Given the description of an element on the screen output the (x, y) to click on. 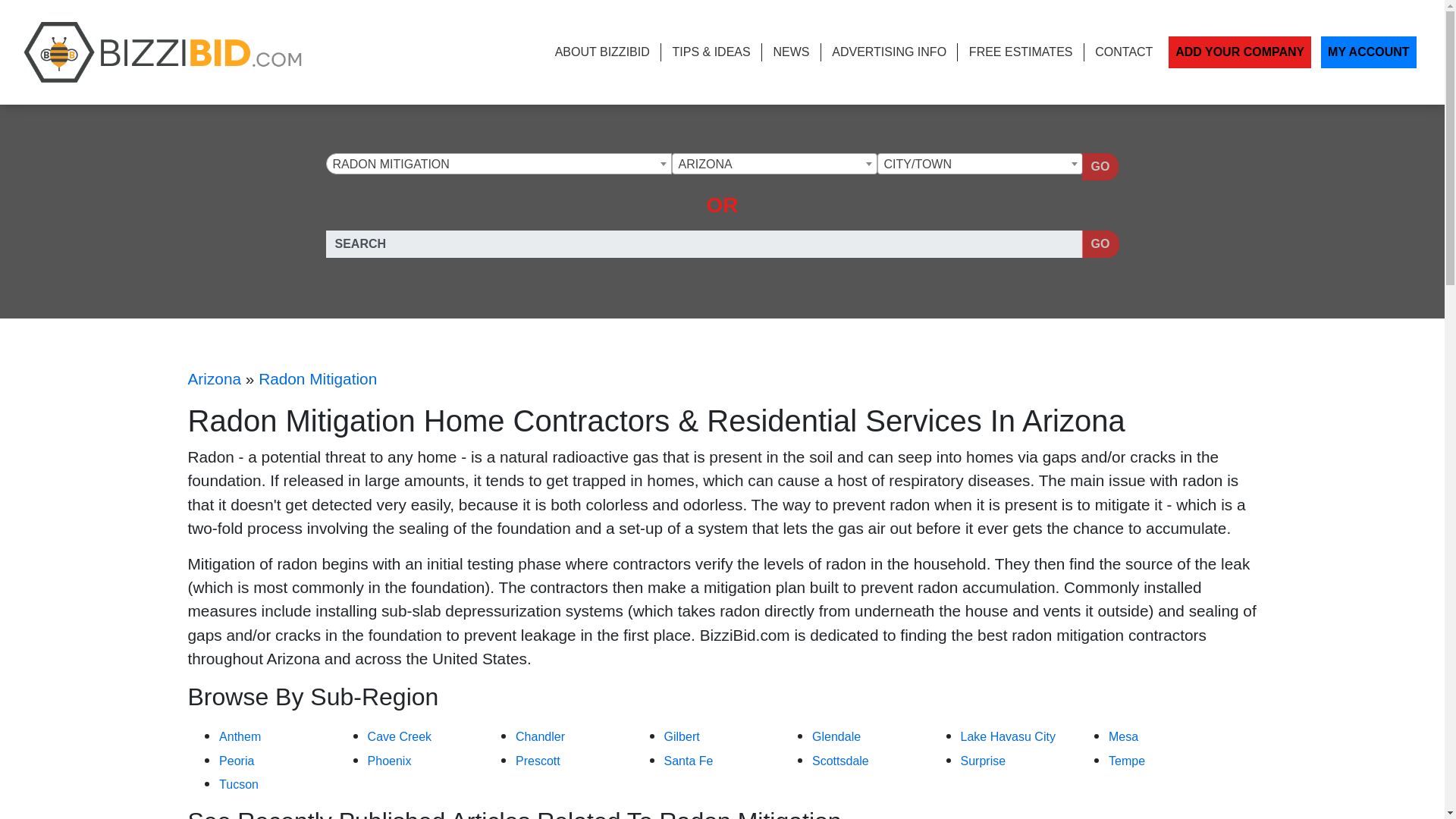
Anthem (239, 736)
Lake Havasu City (1007, 736)
CONTACT (1123, 52)
Gilbert (681, 736)
ABOUT BIZZIBID (602, 52)
NEWS (791, 52)
Chandler (539, 736)
ADVERTISING INFO (888, 52)
ADD YOUR COMPANY (1240, 51)
GO (1100, 243)
Cave Creek (399, 736)
Arizona (773, 164)
Radon Mitigation (497, 164)
Mesa (1123, 736)
Arizona (214, 378)
